Given the description of an element on the screen output the (x, y) to click on. 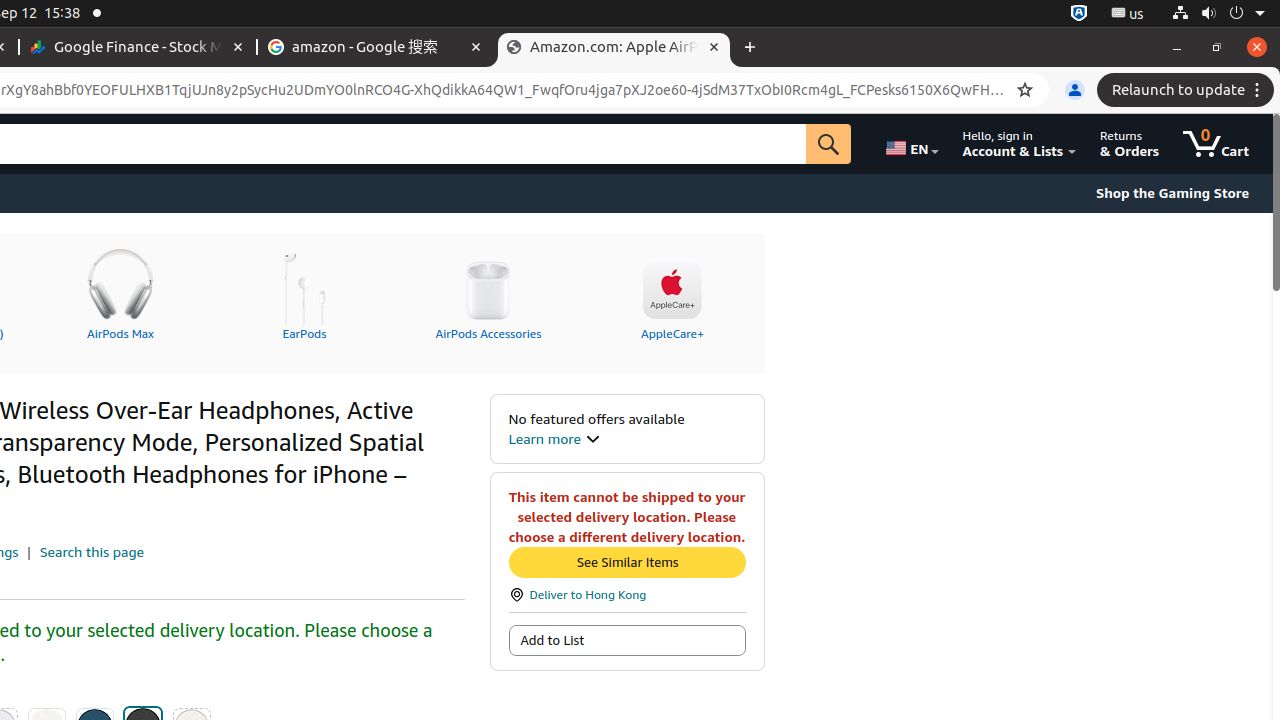
Search this page Element type: link (91, 551)
See Similar Items Element type: push-button (627, 562)
EarPods Element type: link (304, 291)
amazon - Google 搜索 - Memory usage - 87.3 MB Element type: page-tab (376, 47)
Returns & Orders Element type: link (1129, 144)
